Given the description of an element on the screen output the (x, y) to click on. 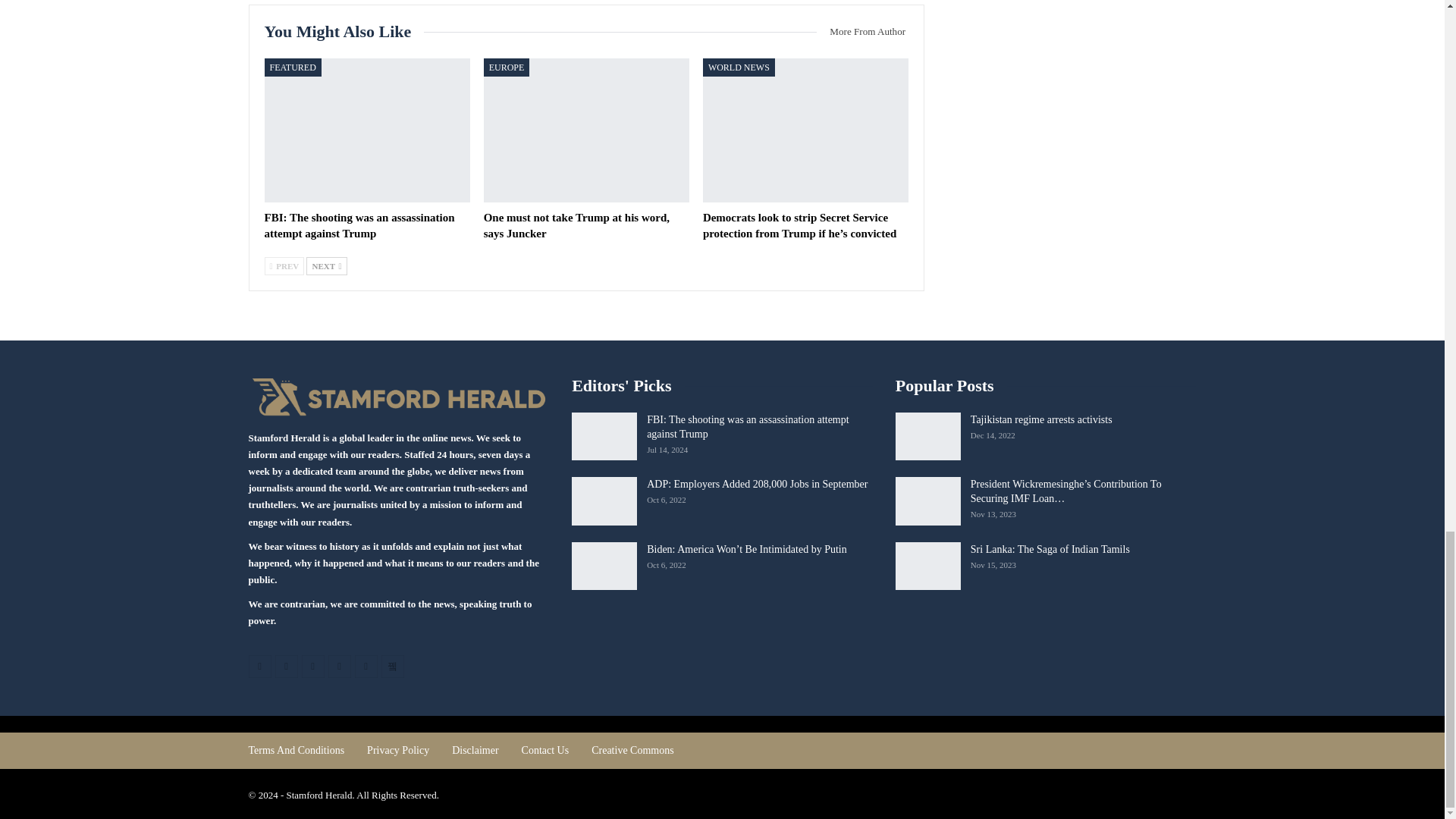
One must not take Trump at his word, says Juncker (576, 225)
FBI: The shooting was an assassination attempt against Trump (358, 225)
One must not take Trump at his word, says Juncker (585, 130)
FBI: The shooting was an assassination attempt against Trump (365, 130)
Previous (283, 266)
Next (325, 266)
